Given the description of an element on the screen output the (x, y) to click on. 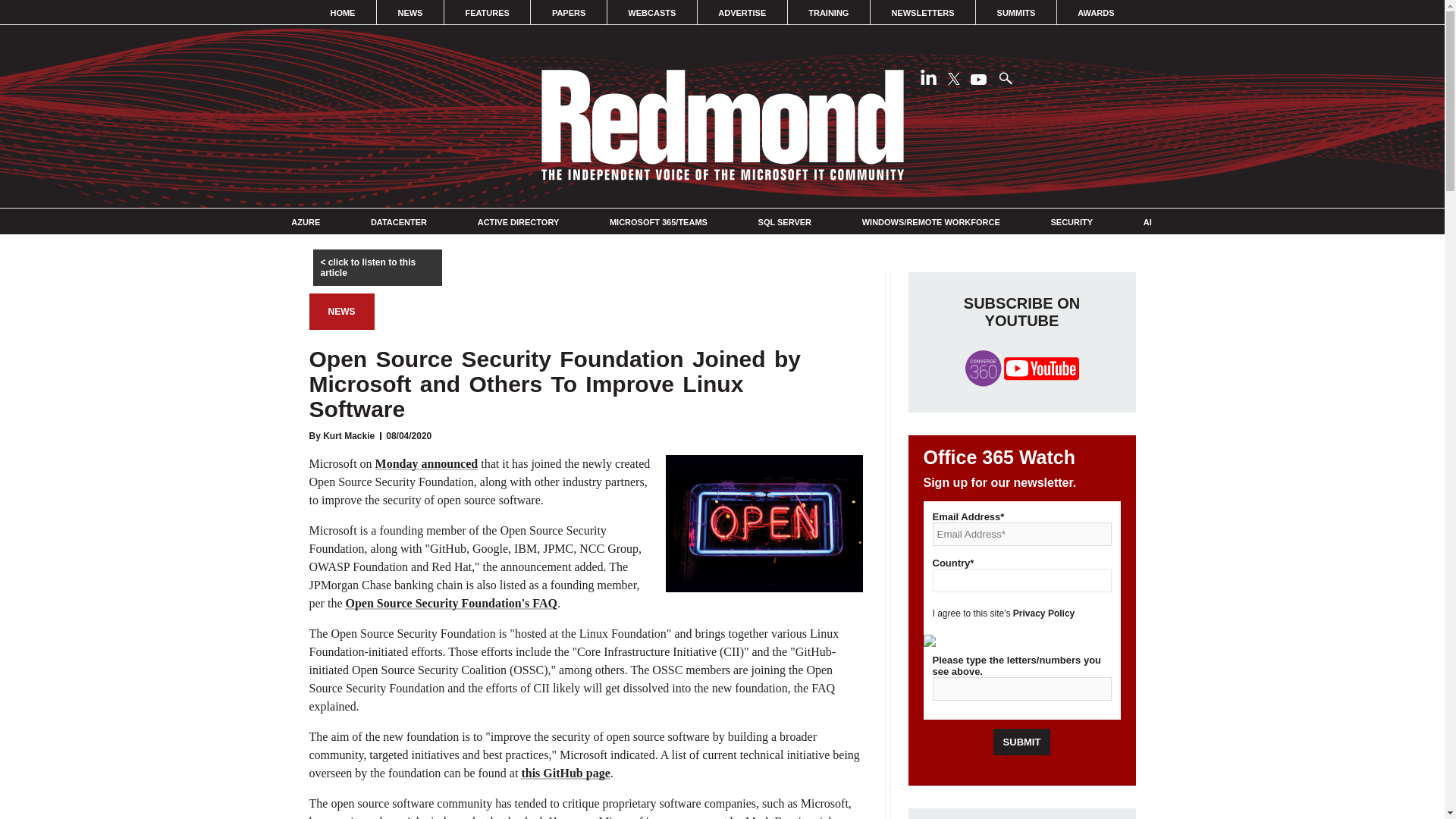
WEBCASTS (651, 12)
AZURE (305, 221)
Submit (1021, 741)
ACTIVE DIRECTORY (518, 221)
Monday announced (427, 463)
HOME (342, 12)
this GitHub page (565, 772)
FEATURES (487, 12)
SECURITY (1071, 221)
NEWS (341, 311)
